Given the description of an element on the screen output the (x, y) to click on. 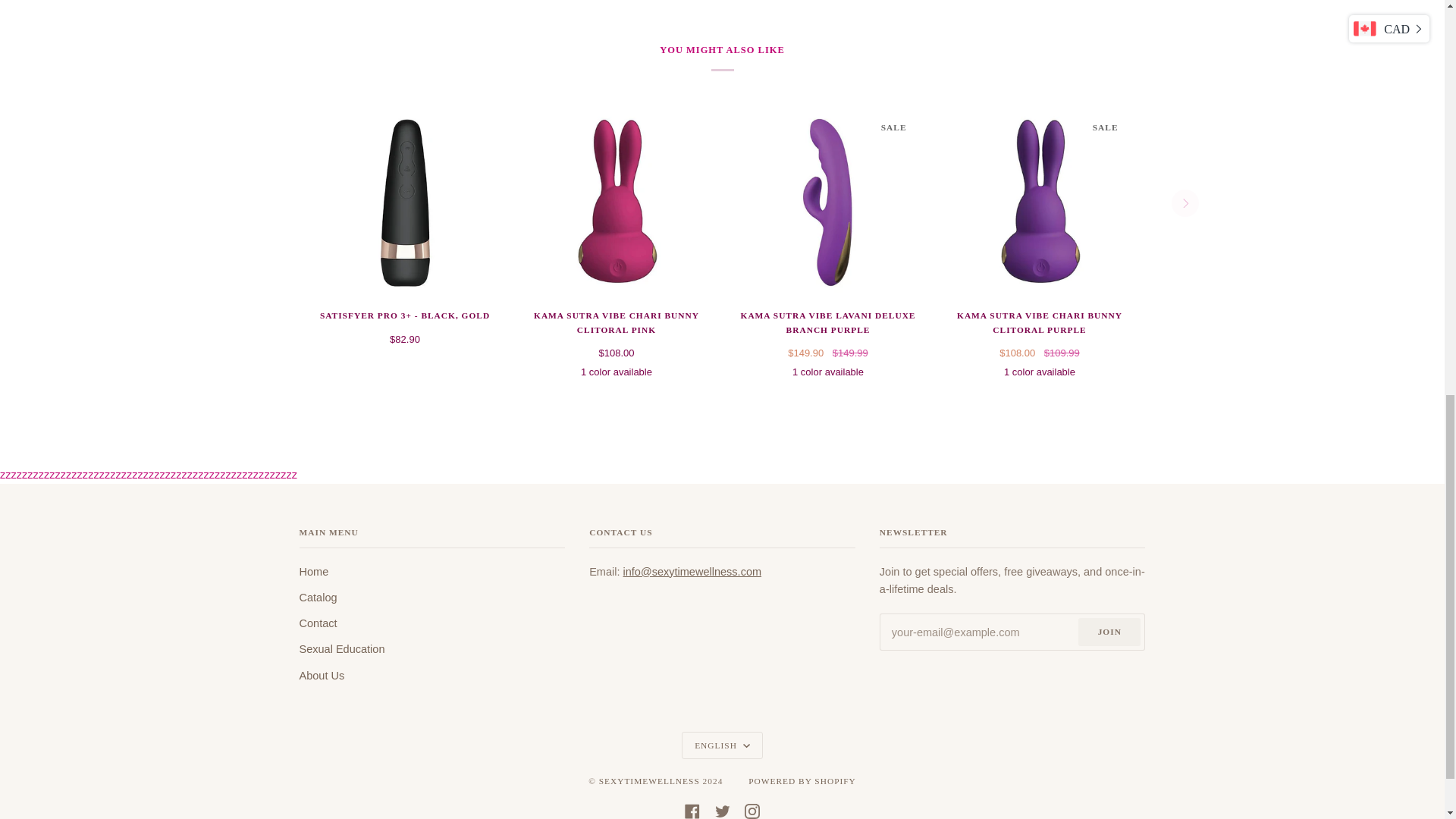
Instagram (752, 809)
Facebook (692, 809)
Twitter (721, 809)
